Given the description of an element on the screen output the (x, y) to click on. 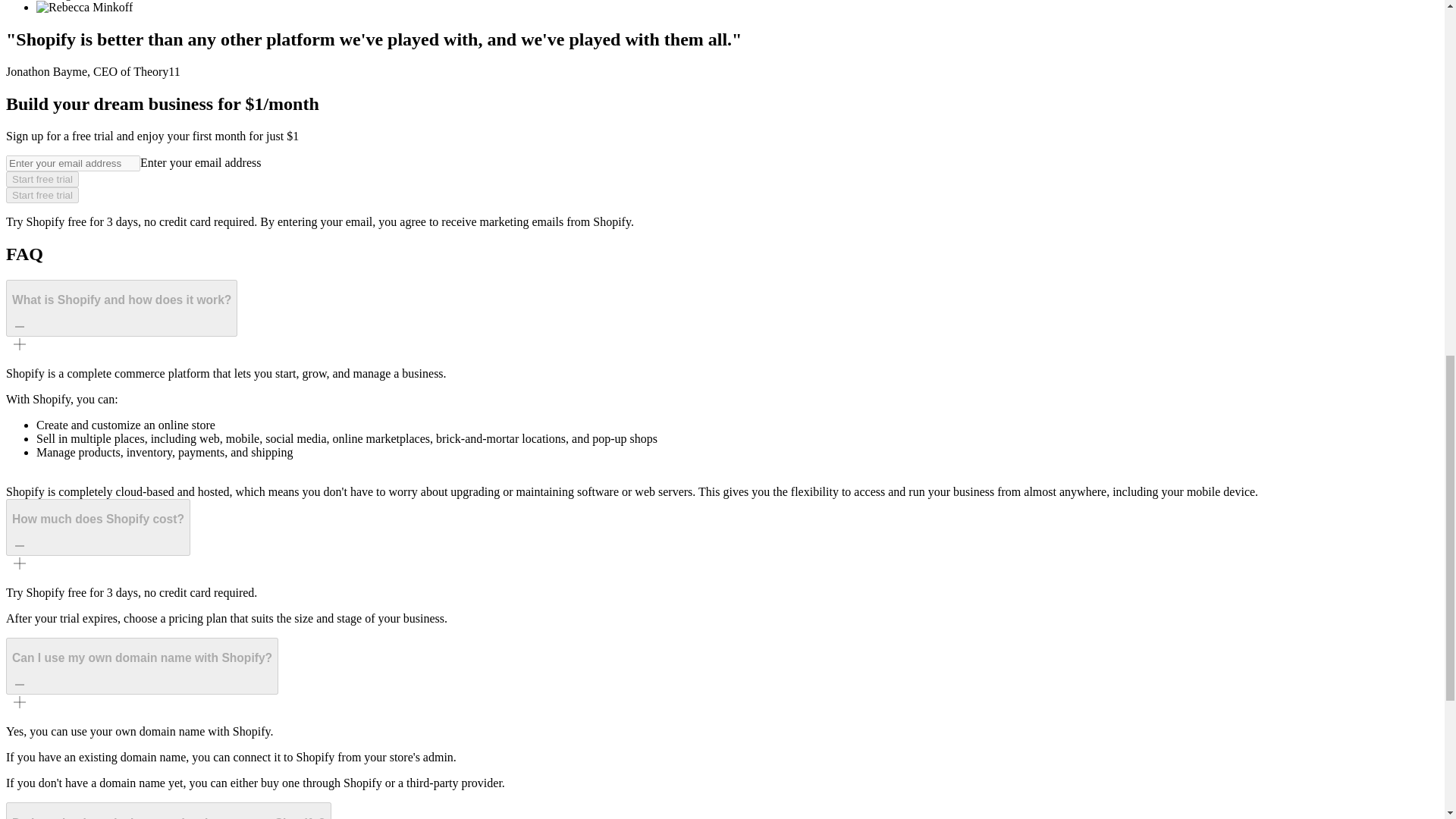
What is Shopify and how does it work? (121, 307)
Do I need to be a designer or developer to use Shopify? (168, 810)
Can I use my own domain name with Shopify? (141, 666)
Start free trial (41, 179)
Start free trial (41, 195)
How much does Shopify cost? (97, 527)
